Given the description of an element on the screen output the (x, y) to click on. 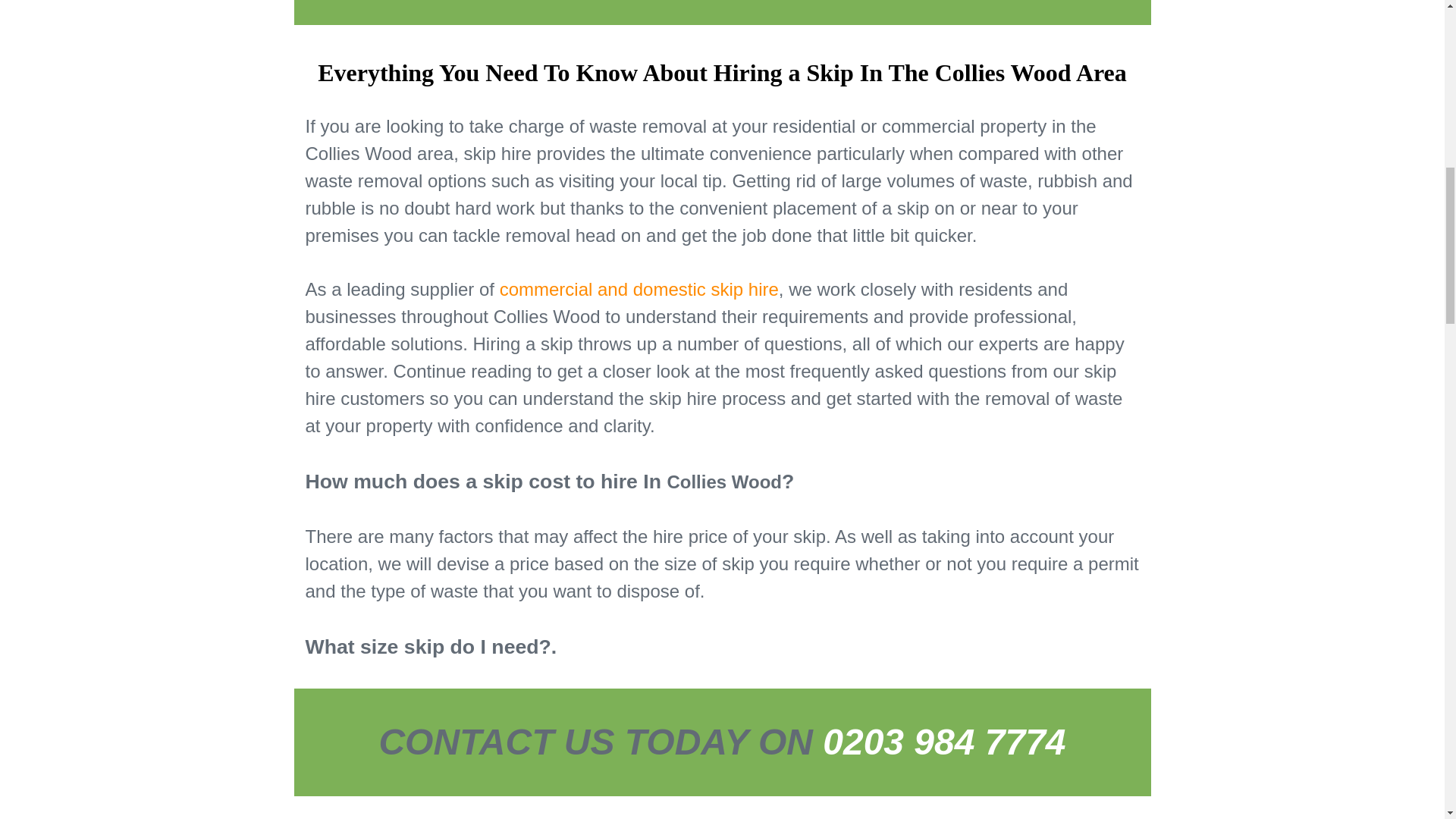
0203 984 7774 (943, 741)
commercial and domestic skip hire (638, 289)
